Given the description of an element on the screen output the (x, y) to click on. 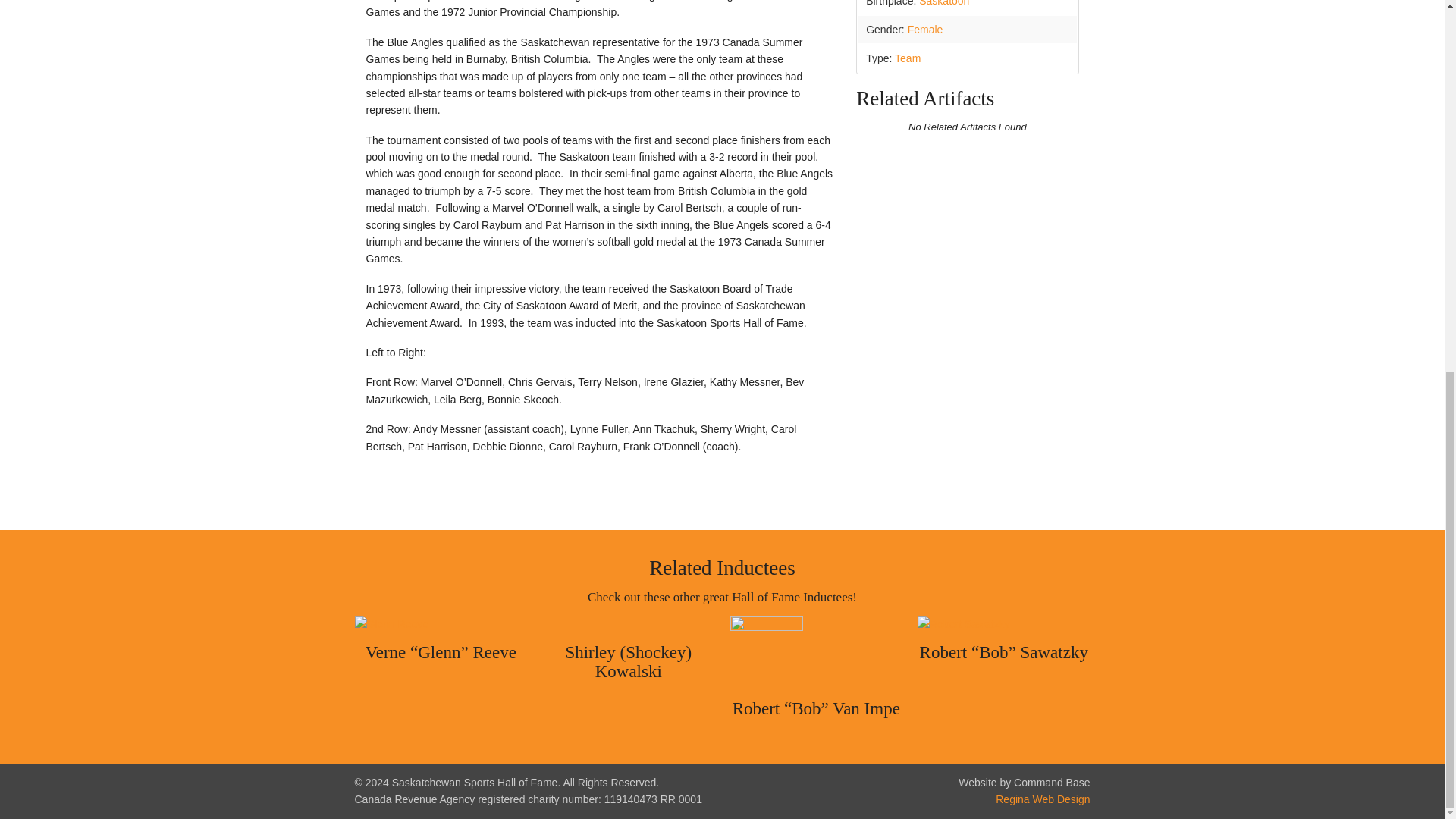
Command Base Creative Design (1023, 782)
Command Base Creative Design (1042, 799)
